Given the description of an element on the screen output the (x, y) to click on. 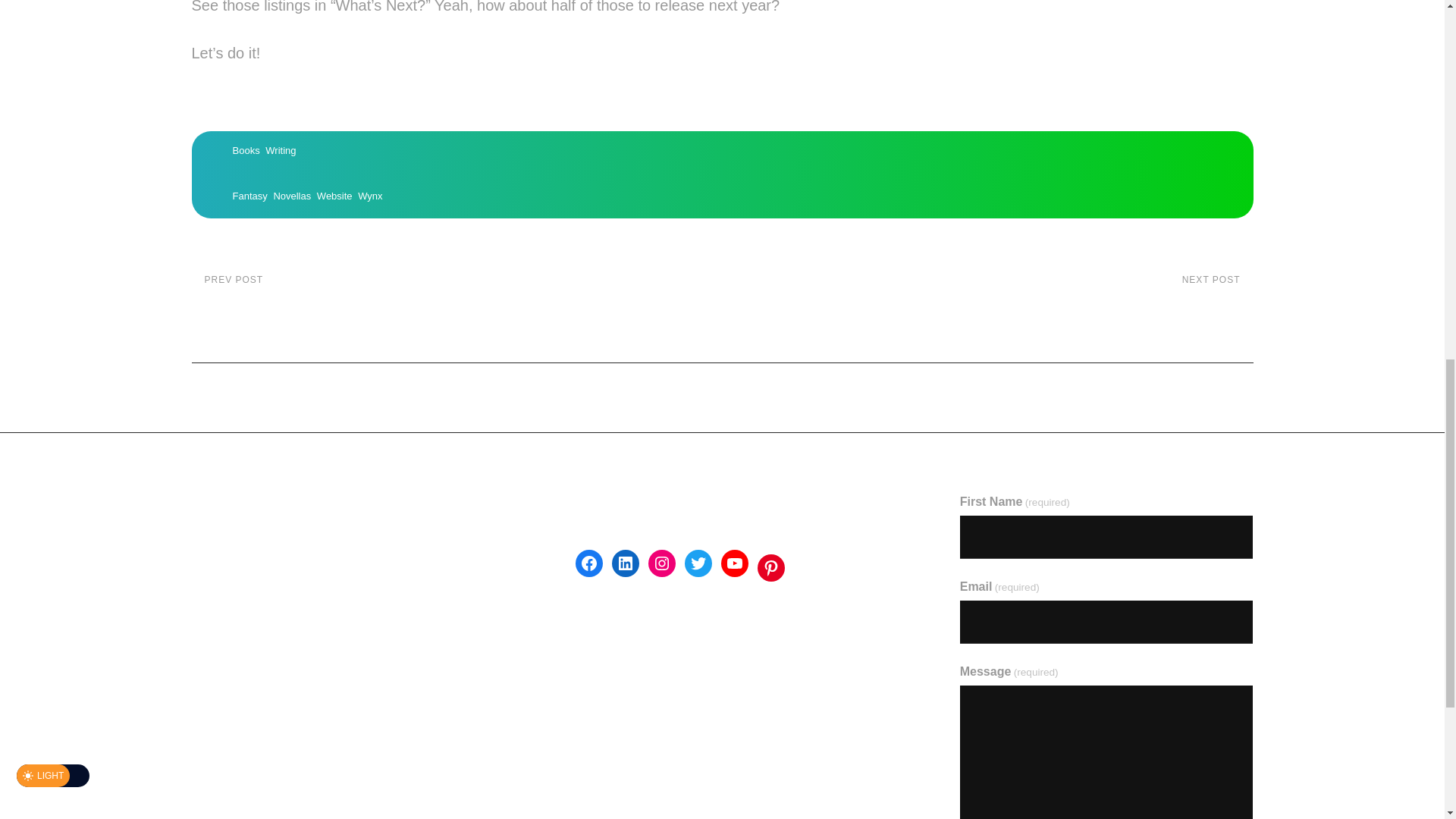
Wynx (369, 195)
Shop (204, 703)
Short Stories (225, 603)
Novellas (997, 295)
Books (292, 195)
Fantasy (207, 569)
Articles (248, 195)
Website (210, 535)
FAQs (334, 195)
Books (205, 669)
Why Josh Robert Nay? (245, 150)
Poetry (252, 502)
Writing (207, 635)
